Given the description of an element on the screen output the (x, y) to click on. 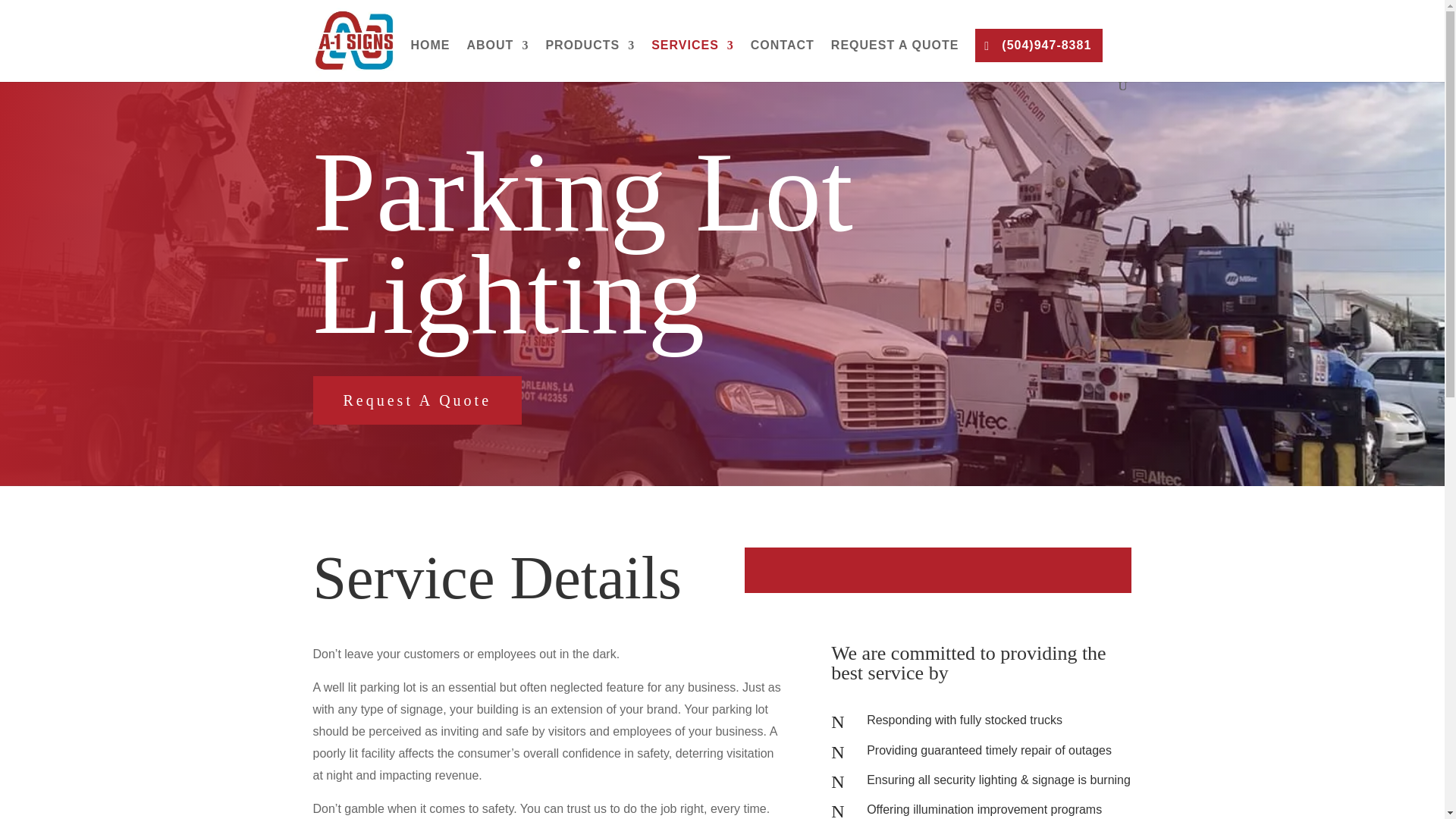
HOME (429, 59)
SERVICES (691, 59)
CONTACT (782, 59)
PRODUCTS (589, 59)
ABOUT (498, 59)
REQUEST A QUOTE (895, 59)
